Given the description of an element on the screen output the (x, y) to click on. 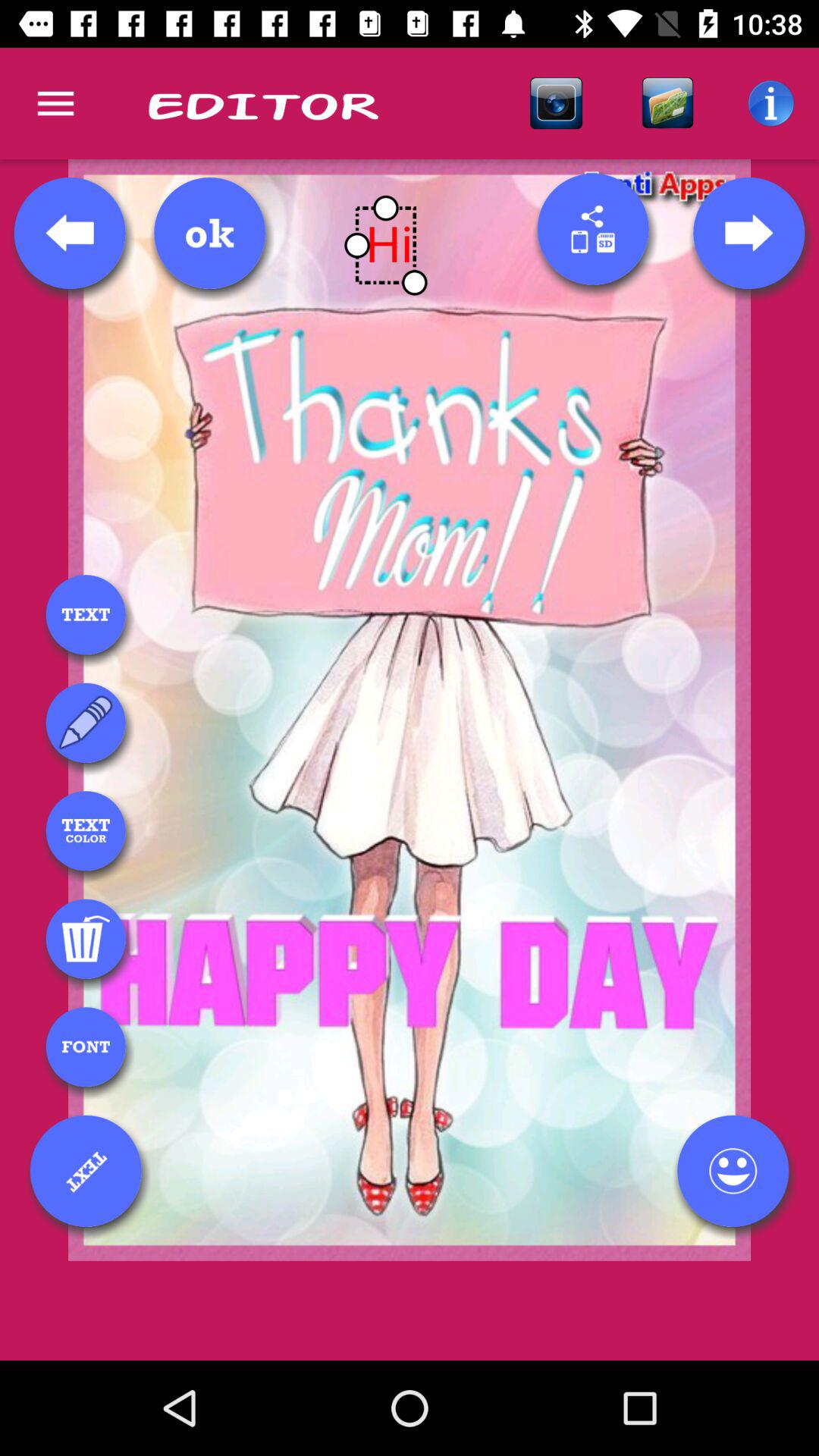
go back (69, 233)
